Given the description of an element on the screen output the (x, y) to click on. 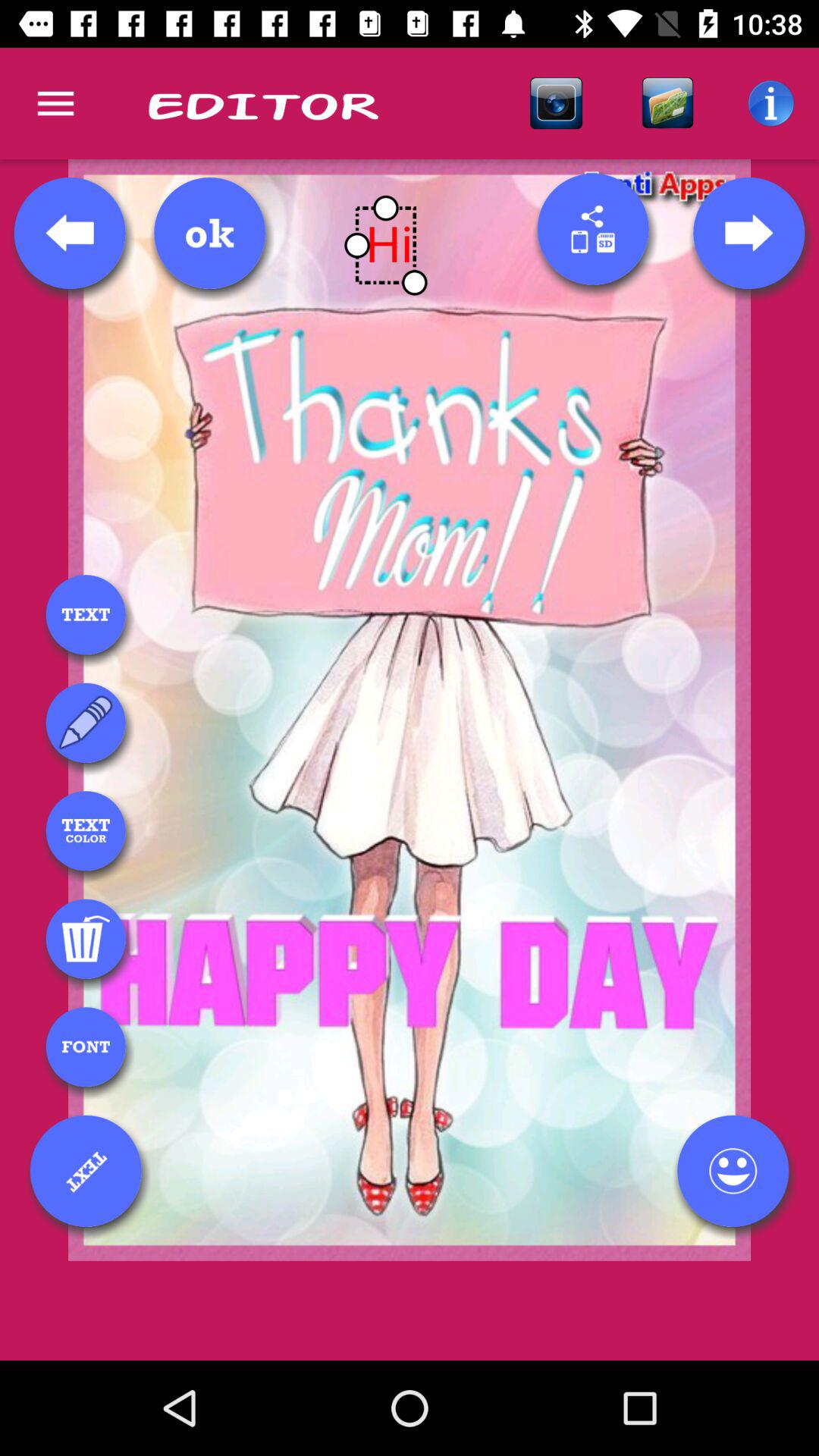
go back (69, 233)
